Given the description of an element on the screen output the (x, y) to click on. 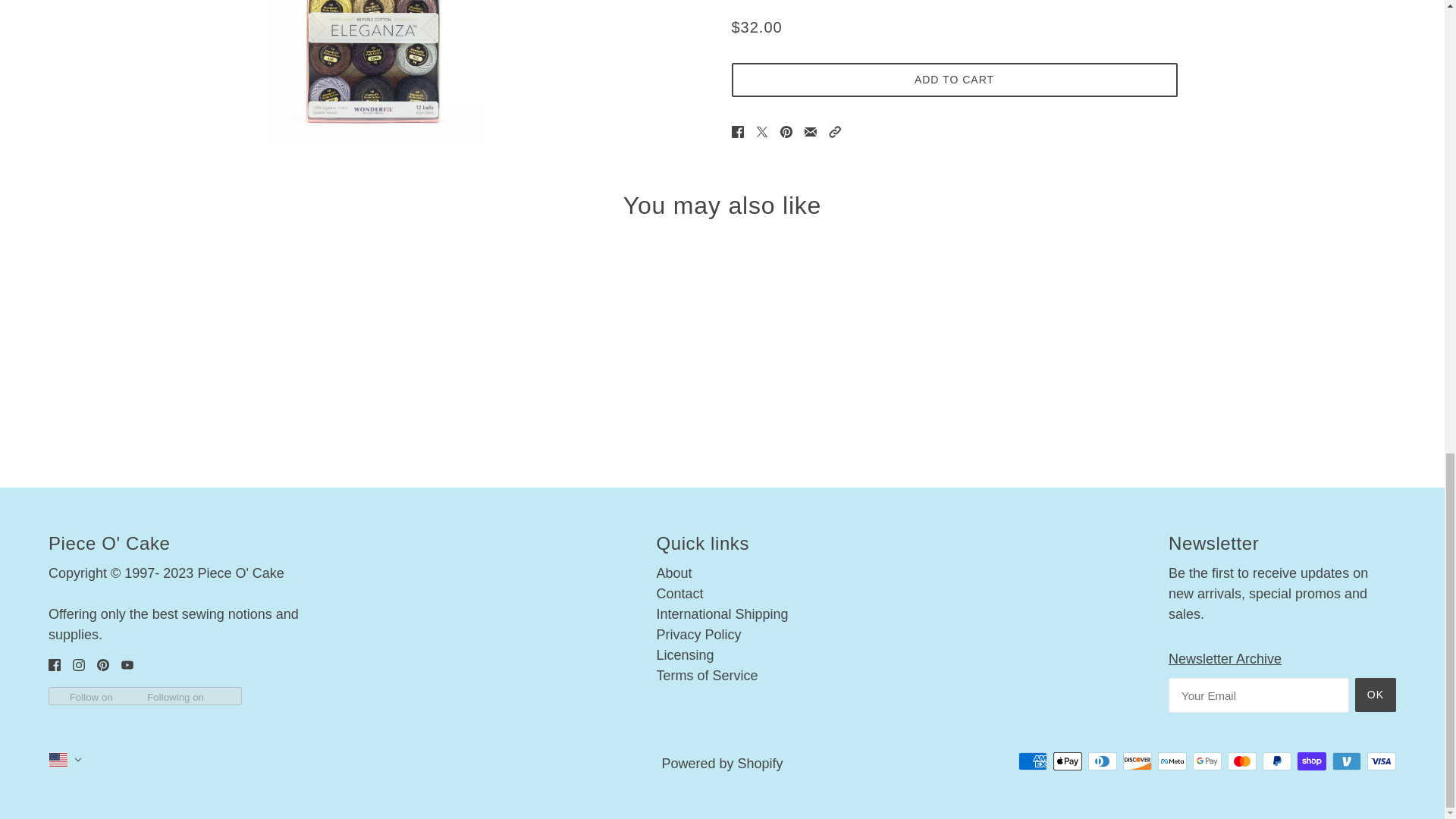
About (673, 572)
Contact (679, 593)
Privacy Policy (698, 634)
Licensing (684, 654)
Terms of Service (706, 675)
International Shipping (721, 613)
